Given the description of an element on the screen output the (x, y) to click on. 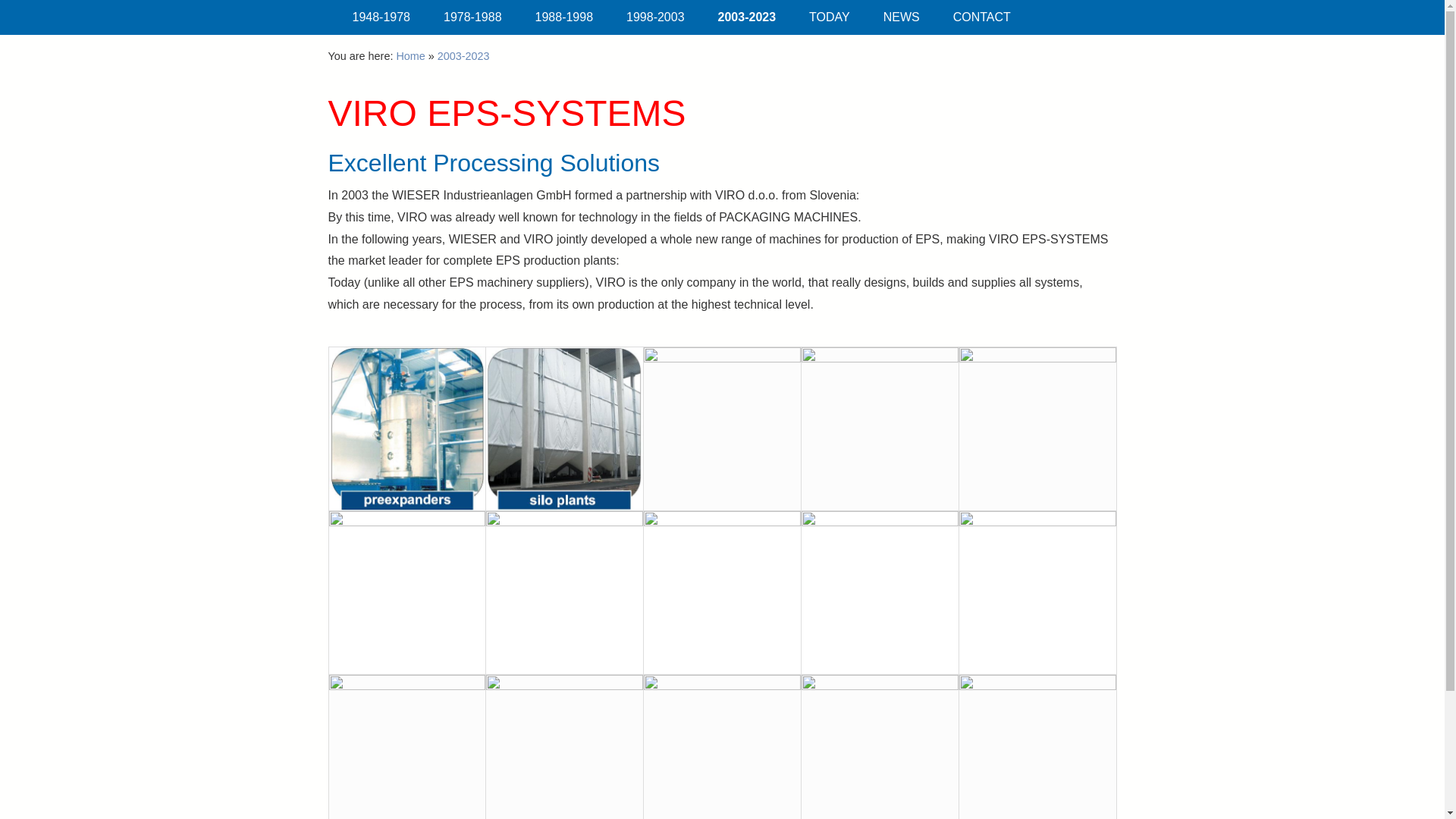
1988-1998 (564, 17)
TODAY (829, 17)
Home (410, 55)
1998-2003 (655, 17)
CONTACT (981, 17)
2003-2023 (463, 55)
NEWS (901, 17)
1978-1988 (472, 17)
2003-2023 (747, 17)
1948-1978 (380, 17)
